Given the description of an element on the screen output the (x, y) to click on. 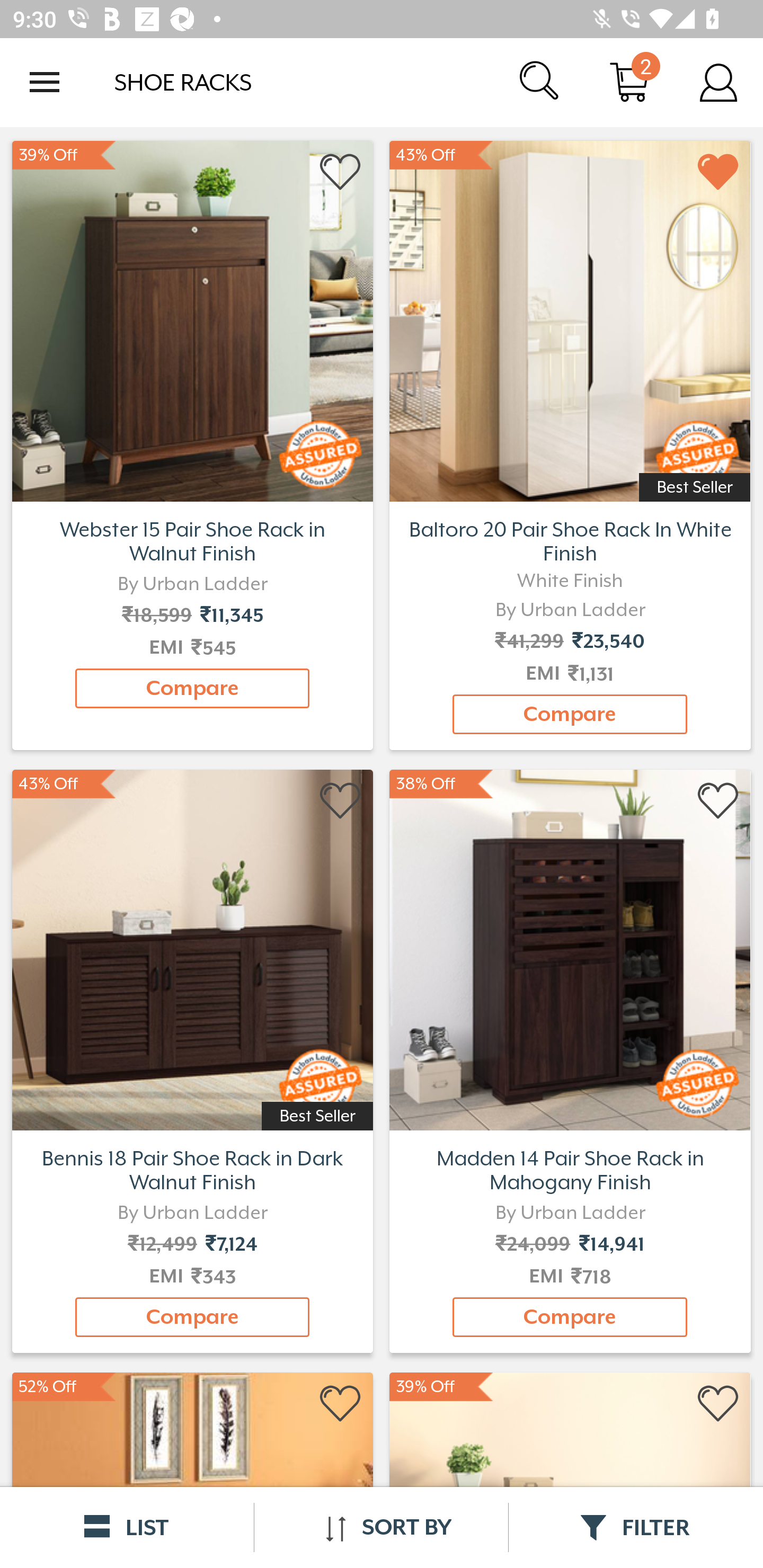
Open navigation drawer (44, 82)
Search (540, 81)
Cart (629, 81)
Account Details (718, 81)
 (341, 172)
 (718, 172)
Compare (192, 687)
Compare (569, 713)
 (341, 800)
 (718, 800)
Compare (192, 1316)
Compare (569, 1316)
 (341, 1404)
 (718, 1404)
 LIST (127, 1527)
SORT BY (381, 1527)
 FILTER (635, 1527)
